Given the description of an element on the screen output the (x, y) to click on. 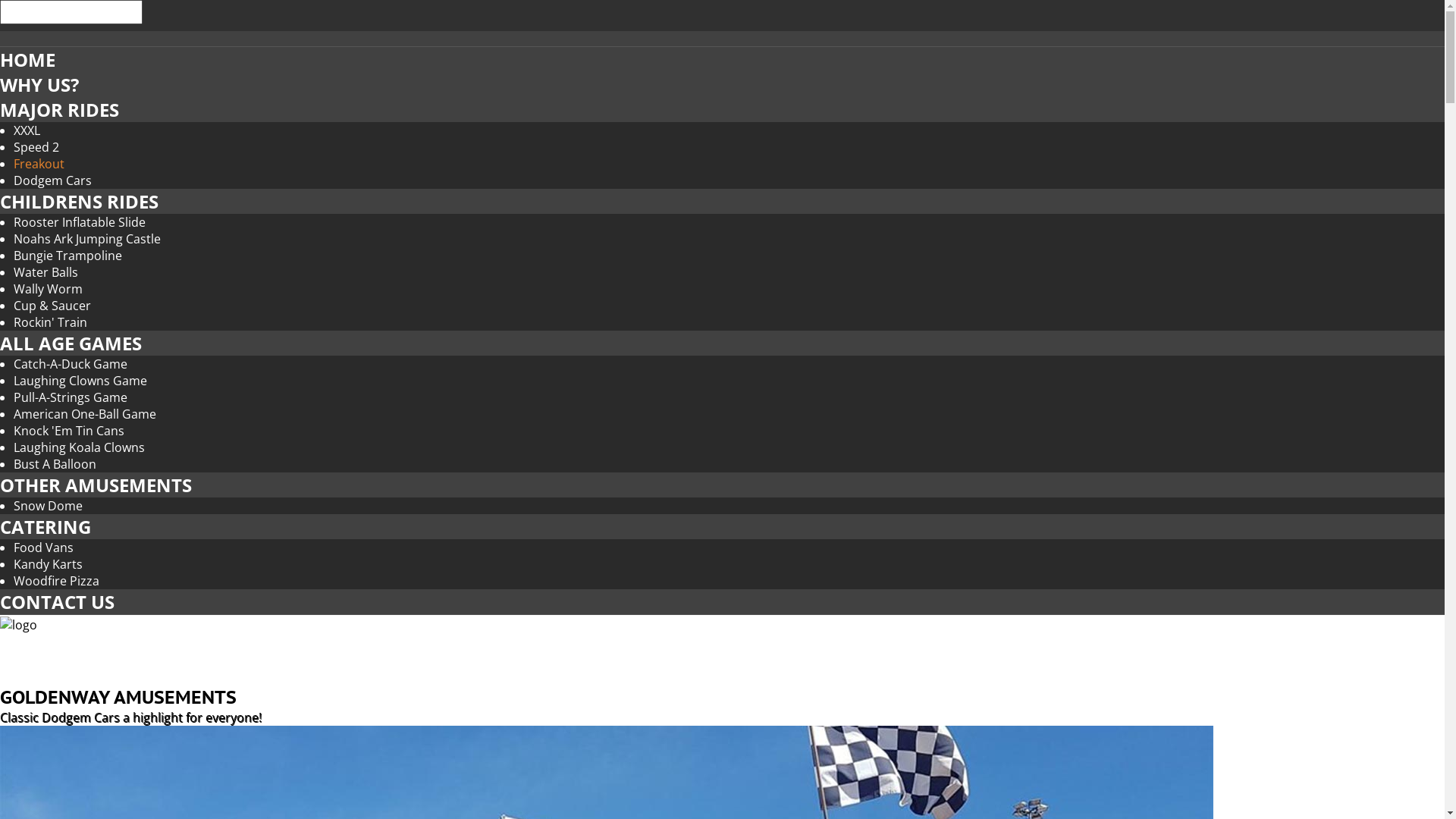
Food Vans Element type: text (43, 547)
MAJOR RIDES Element type: text (722, 109)
Bust A Balloon Element type: text (54, 463)
Pull-A-Strings Game Element type: text (70, 397)
Speed 2 Element type: text (36, 146)
Woodfire Pizza Element type: text (56, 580)
HOME Element type: text (27, 59)
Cup & Saucer Element type: text (52, 305)
CATERING Element type: text (45, 526)
Dodgem Cars Element type: text (52, 180)
Knock 'Em Tin Cans Element type: text (68, 430)
WHY US? Element type: text (39, 84)
Laughing Clowns Game Element type: text (80, 380)
Bungie Trampoline Element type: text (67, 255)
Rooster Inflatable Slide Element type: text (79, 221)
ALL AGE GAMES Element type: text (70, 342)
CHILDRENS RIDES Element type: text (722, 200)
American One-Ball Game Element type: text (84, 413)
Wally Worm Element type: text (47, 288)
OTHER AMUSEMENTS Element type: text (722, 484)
Freakout Element type: text (38, 163)
OTHER AMUSEMENTS Element type: text (95, 484)
Kandy Karts Element type: text (47, 563)
Noahs Ark Jumping Castle Element type: text (86, 238)
CHILDRENS RIDES Element type: text (79, 200)
Rockin' Train Element type: text (50, 321)
Catch-A-Duck Game Element type: text (70, 363)
MAJOR RIDES Element type: text (59, 109)
Water Balls Element type: text (45, 271)
XXXL Element type: text (26, 130)
Snow Dome Element type: text (47, 505)
ALL AGE GAMES Element type: text (722, 342)
Laughing Koala Clowns Element type: text (78, 447)
CONTACT US Element type: text (57, 601)
CATERING Element type: text (722, 526)
